Given the description of an element on the screen output the (x, y) to click on. 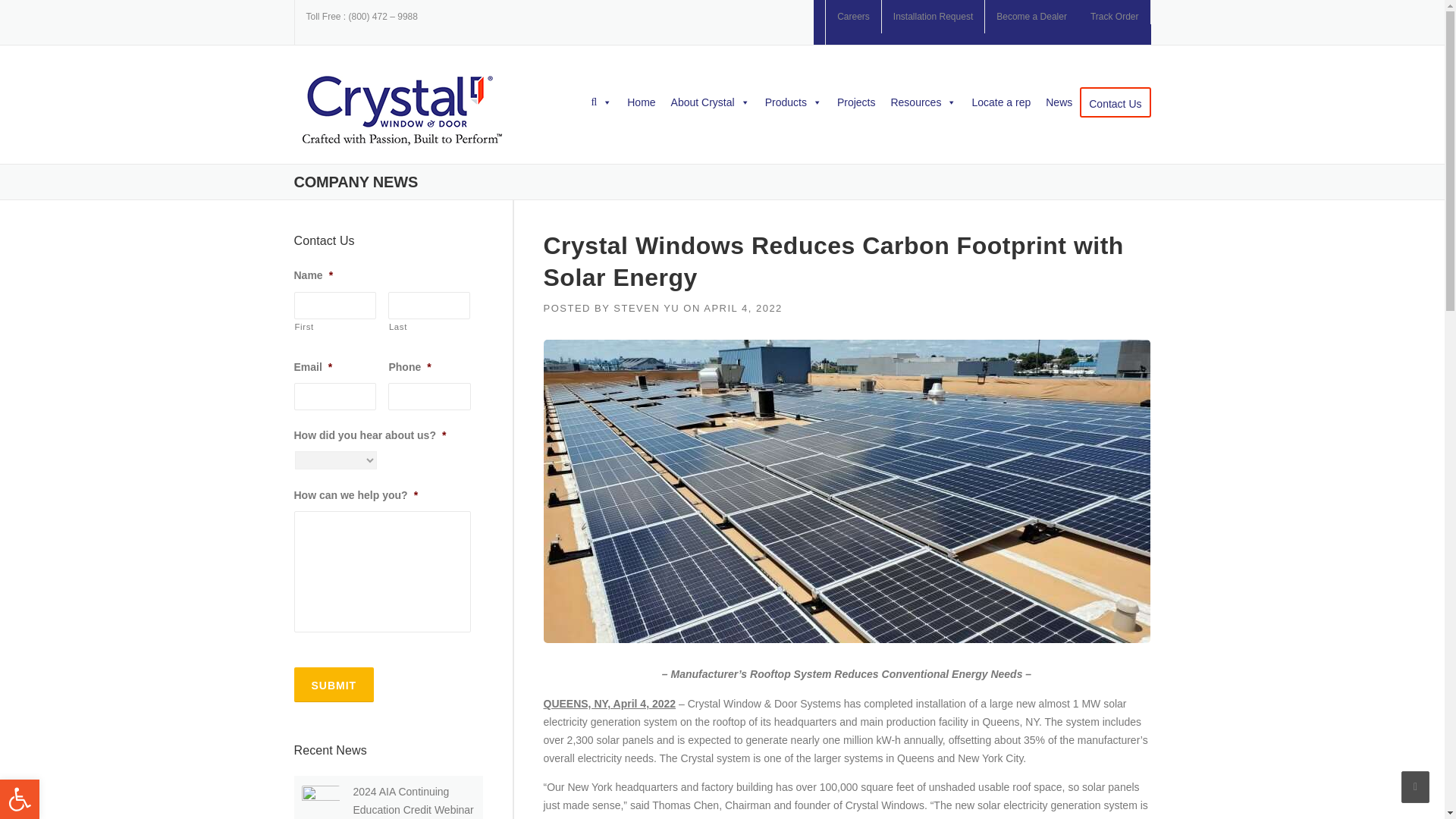
Track Order (1114, 16)
Search (577, 157)
Become a Dealer (1031, 16)
Accessibility Tools (19, 799)
About Crystal (710, 101)
Crystal windows commercial window manufacturer in the USA (401, 111)
Accessibility Tools (19, 799)
2024 AIA Continuing Education Credit Webinar (413, 800)
Home (641, 101)
Products (793, 101)
